Given the description of an element on the screen output the (x, y) to click on. 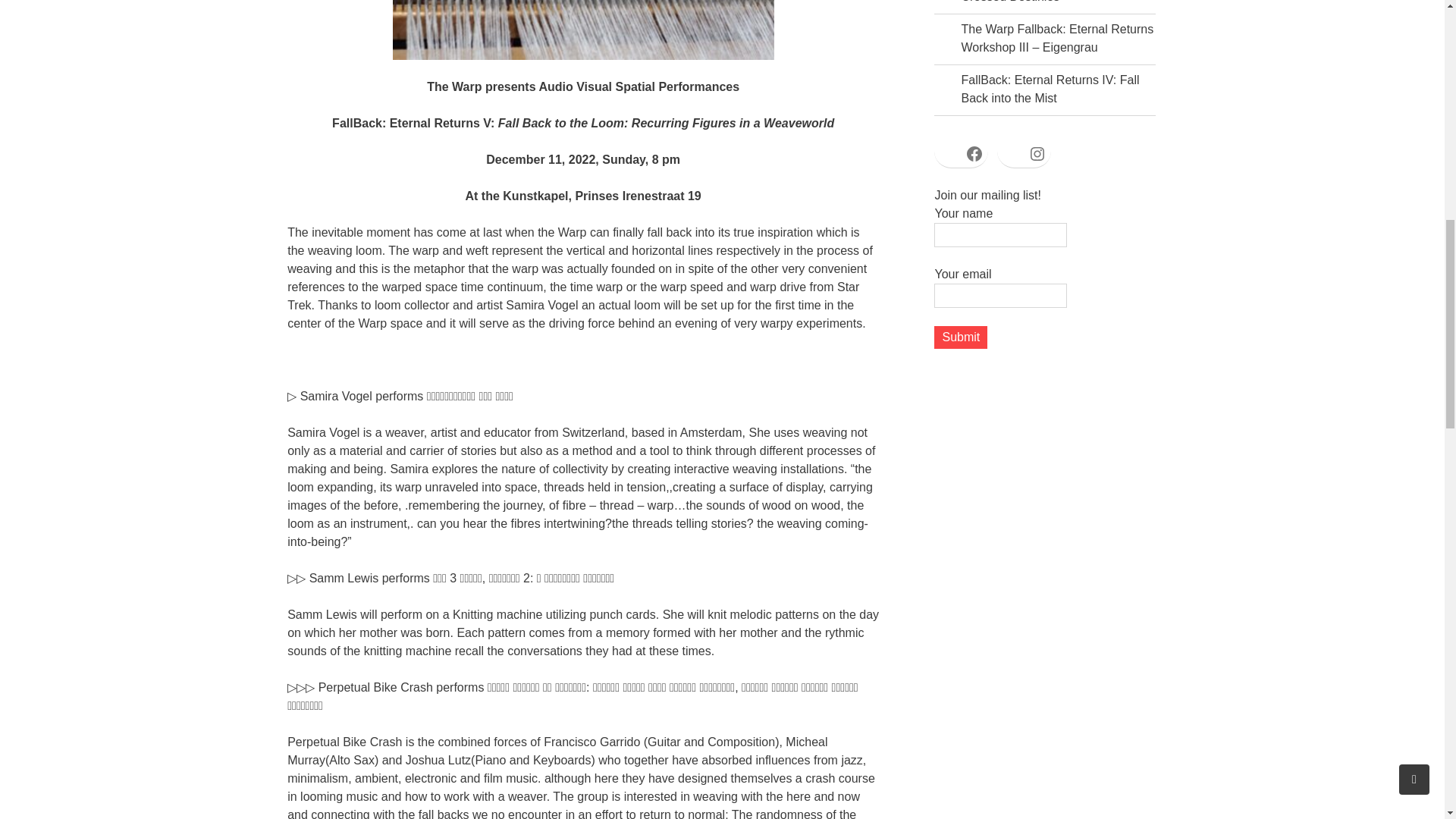
Our Dilating Arcana: The Realm of Crossed Destinies (1052, 1)
FallBack: Eternal Returns IV: Fall Back into the Mist (1049, 88)
Submit (960, 336)
Submit (960, 336)
Instagram (1037, 153)
Facebook (974, 153)
